Given the description of an element on the screen output the (x, y) to click on. 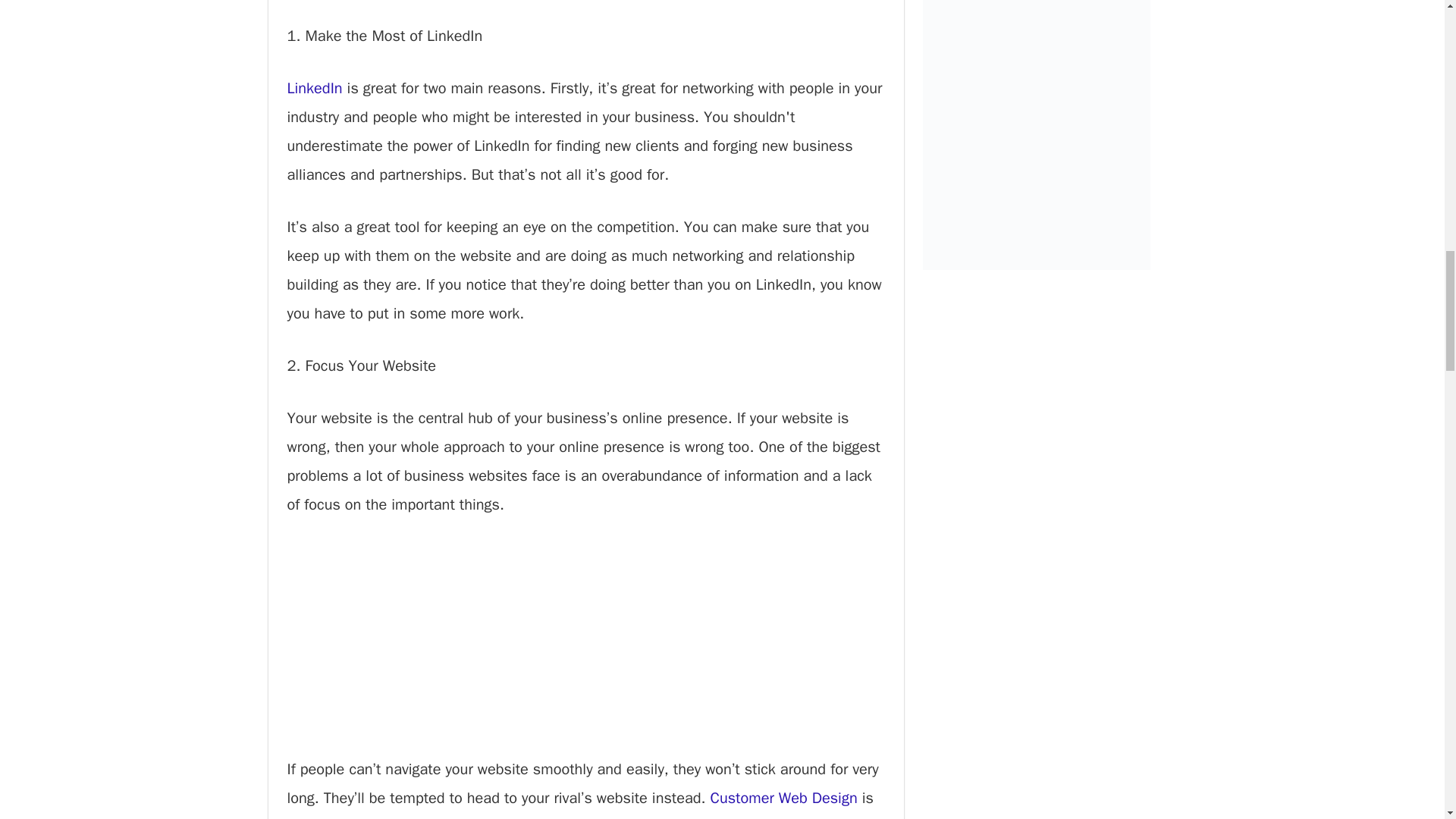
Customer Web Design (783, 797)
LinkedIn (314, 87)
Advertisement (584, 648)
